Given the description of an element on the screen output the (x, y) to click on. 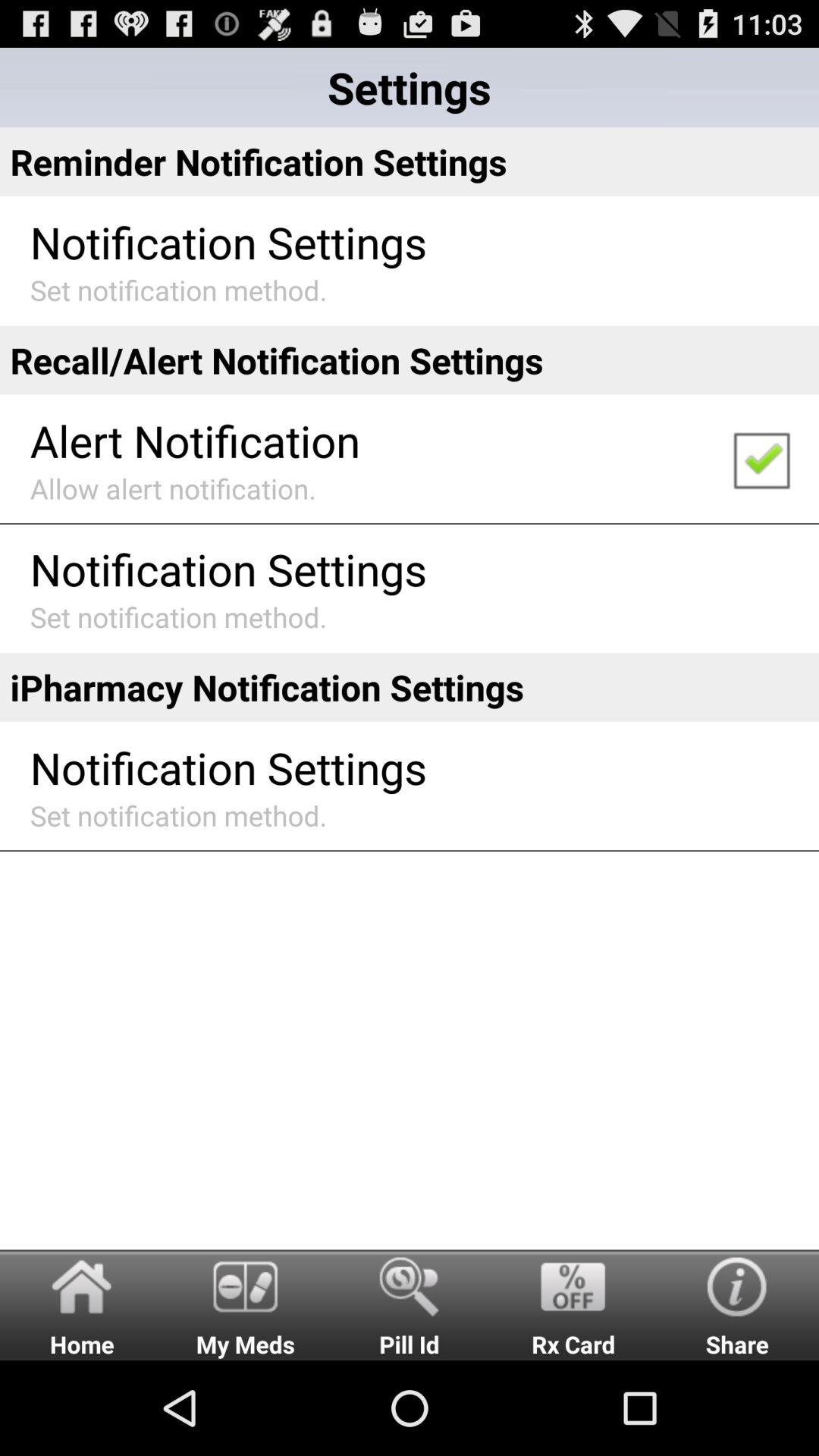
turn on the my meds item (245, 1304)
